Given the description of an element on the screen output the (x, y) to click on. 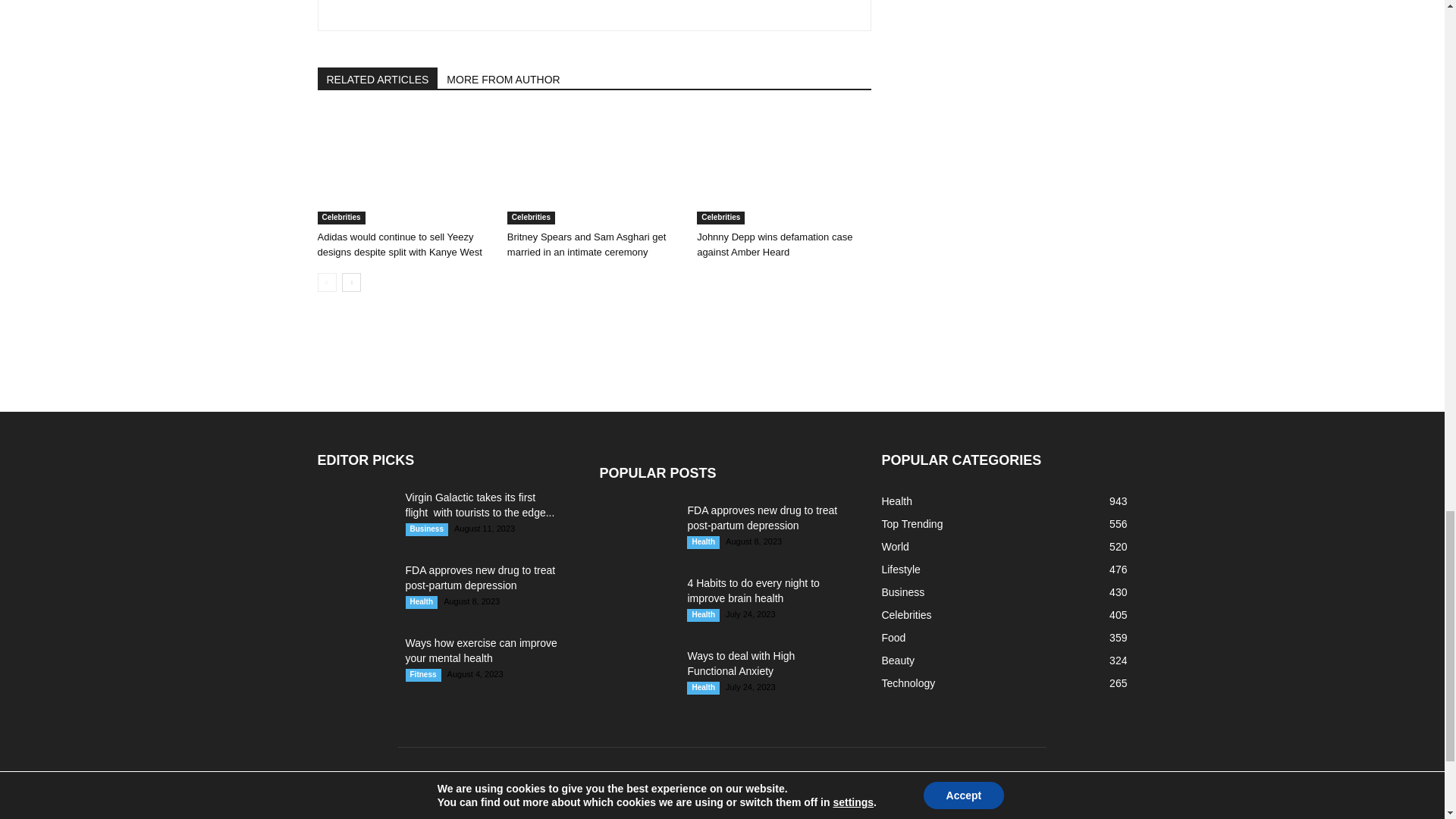
Johnny Depp wins defamation case against Amber Heard (783, 167)
Johnny Depp wins defamation case against Amber Heard (774, 243)
